Given the description of an element on the screen output the (x, y) to click on. 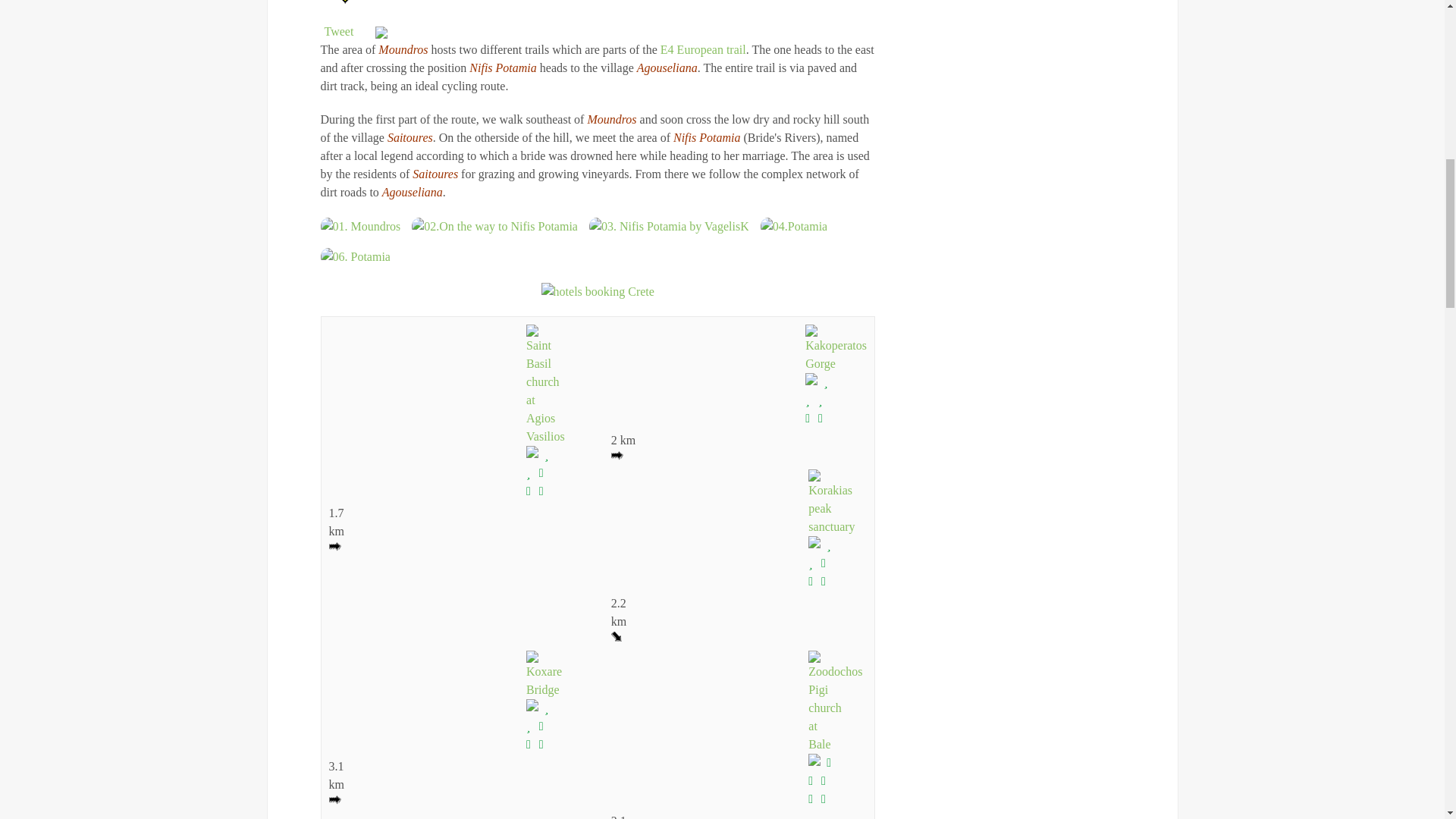
03. Nifis Potamia by VagelisK (669, 226)
01. Moundros (360, 226)
06. Potamia (355, 256)
04.Potamia (793, 226)
Find the nearest hotels (597, 291)
02.On the way to Nifis Potamia (495, 226)
